Given the description of an element on the screen output the (x, y) to click on. 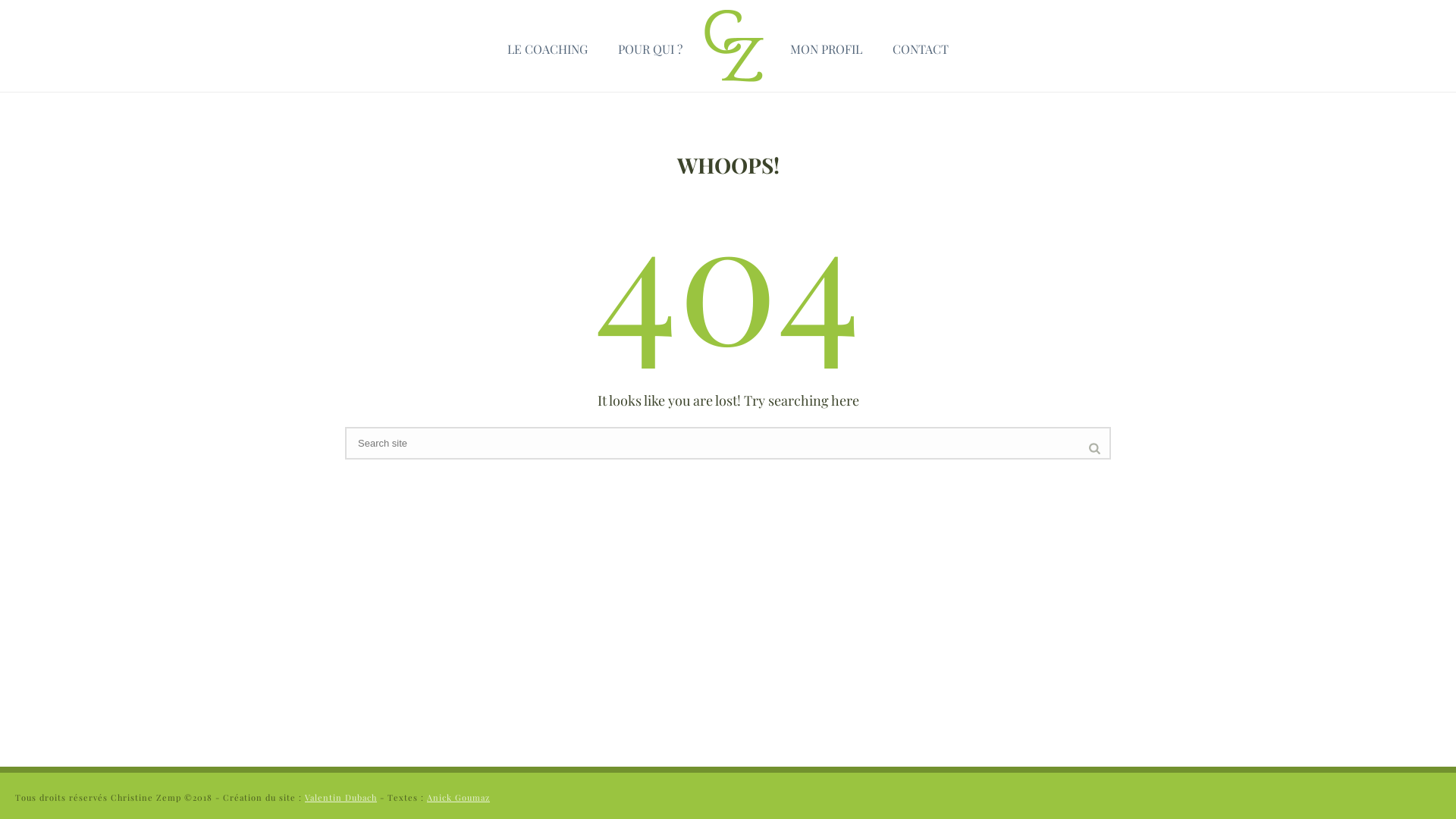
CONTACT Element type: text (920, 45)
MON PROFIL Element type: text (826, 45)
POUR QUI ? Element type: text (649, 45)
Anick Goumaz Element type: text (457, 797)
LE COACHING Element type: text (547, 45)
Valentin Dubach Element type: text (340, 797)
